Given the description of an element on the screen output the (x, y) to click on. 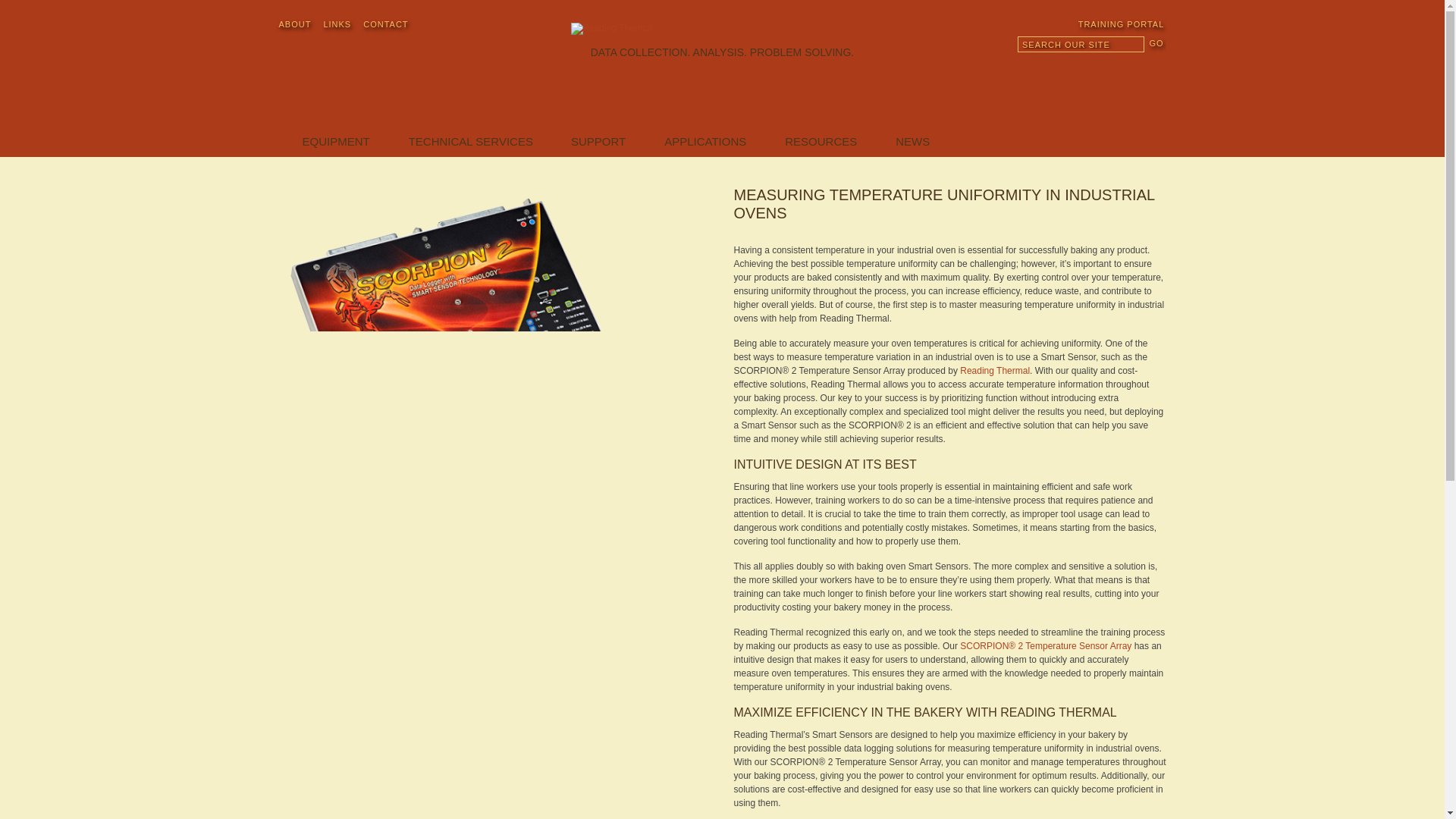
Spanish (1115, 71)
Arabic (1115, 91)
Japanese (1155, 91)
Portuguese (1096, 91)
EQUIPMENT (336, 143)
ABOUT (295, 23)
Korean (1135, 91)
French (1076, 91)
German (1155, 71)
CONTACT (384, 23)
English (1076, 71)
TRAINING PORTAL (1062, 24)
LINKS (336, 23)
Russian (1135, 71)
